Given the description of an element on the screen output the (x, y) to click on. 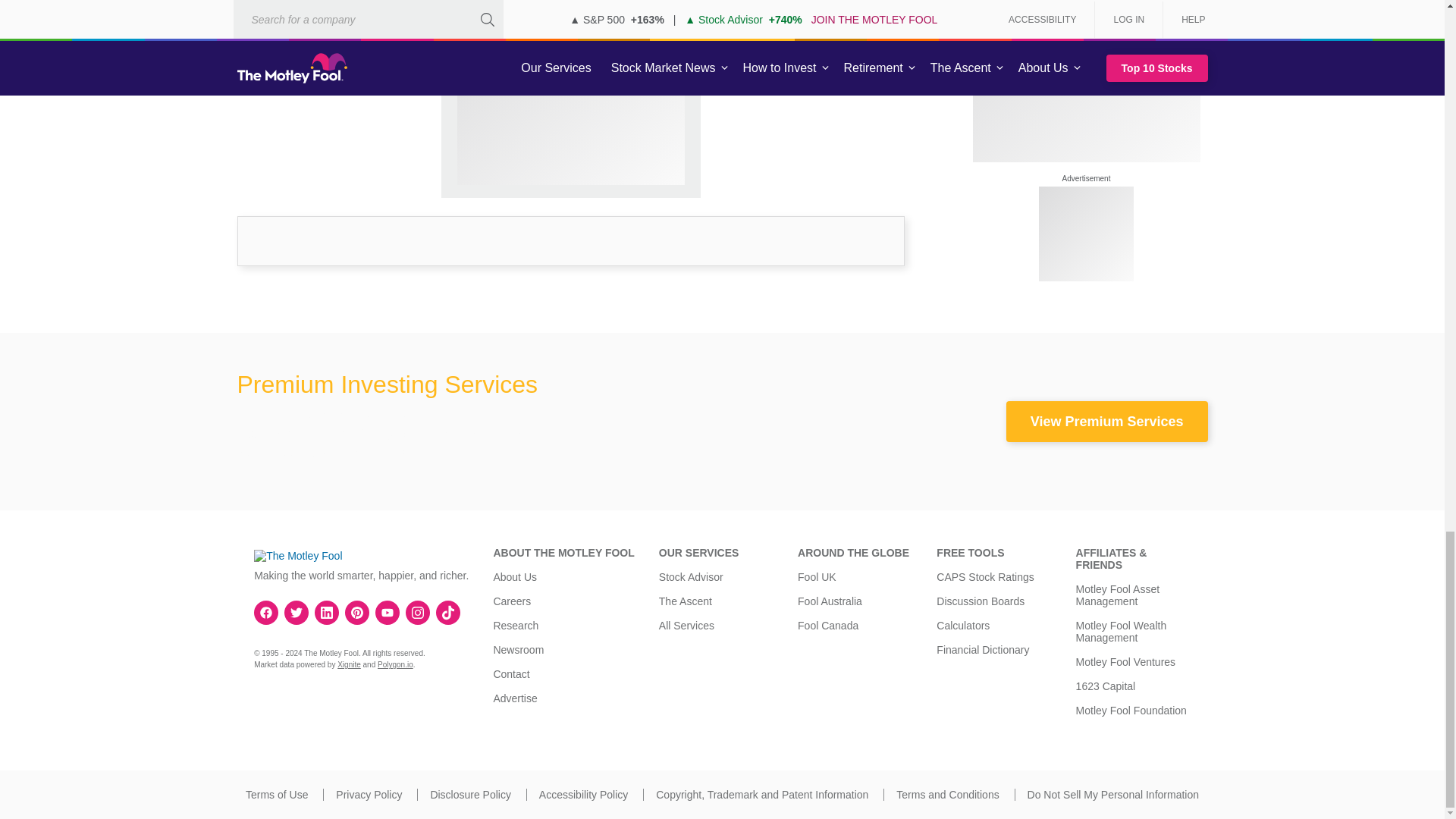
Facebook (266, 612)
Accessibility Policy (582, 794)
Copyright, Trademark and Patent Information (761, 794)
Instagram (417, 612)
LinkedIn (326, 612)
Disclosure Policy (470, 794)
Terms and Conditions (947, 794)
Twitter (295, 612)
TikTok (448, 612)
Pinterest (356, 612)
Privacy Policy (368, 794)
Do Not Sell My Personal Information. (1112, 794)
YouTube (387, 612)
Terms of Use (276, 794)
